Given the description of an element on the screen output the (x, y) to click on. 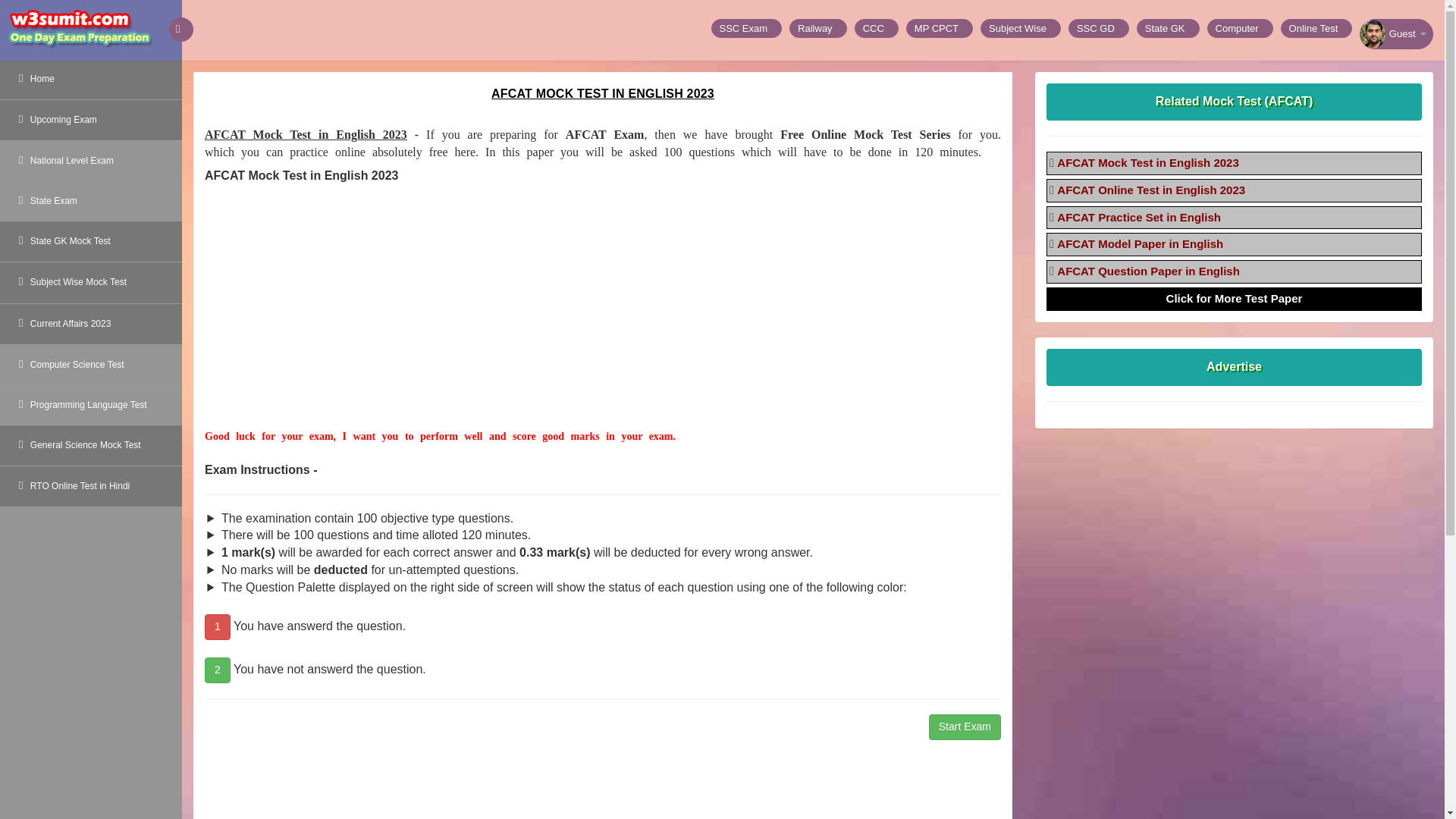
Subject Wise Mock Test (91, 282)
Guest (1395, 33)
Subject Wise (1020, 27)
State GK (1168, 27)
Railway (818, 27)
Current Affairs 2023 (91, 323)
Railway Exam (818, 27)
Home (91, 78)
CCC Exam (876, 27)
Computer (1239, 27)
PHP (747, 27)
Terms and Condition (1098, 27)
Programming Language Test (91, 404)
